Given the description of an element on the screen output the (x, y) to click on. 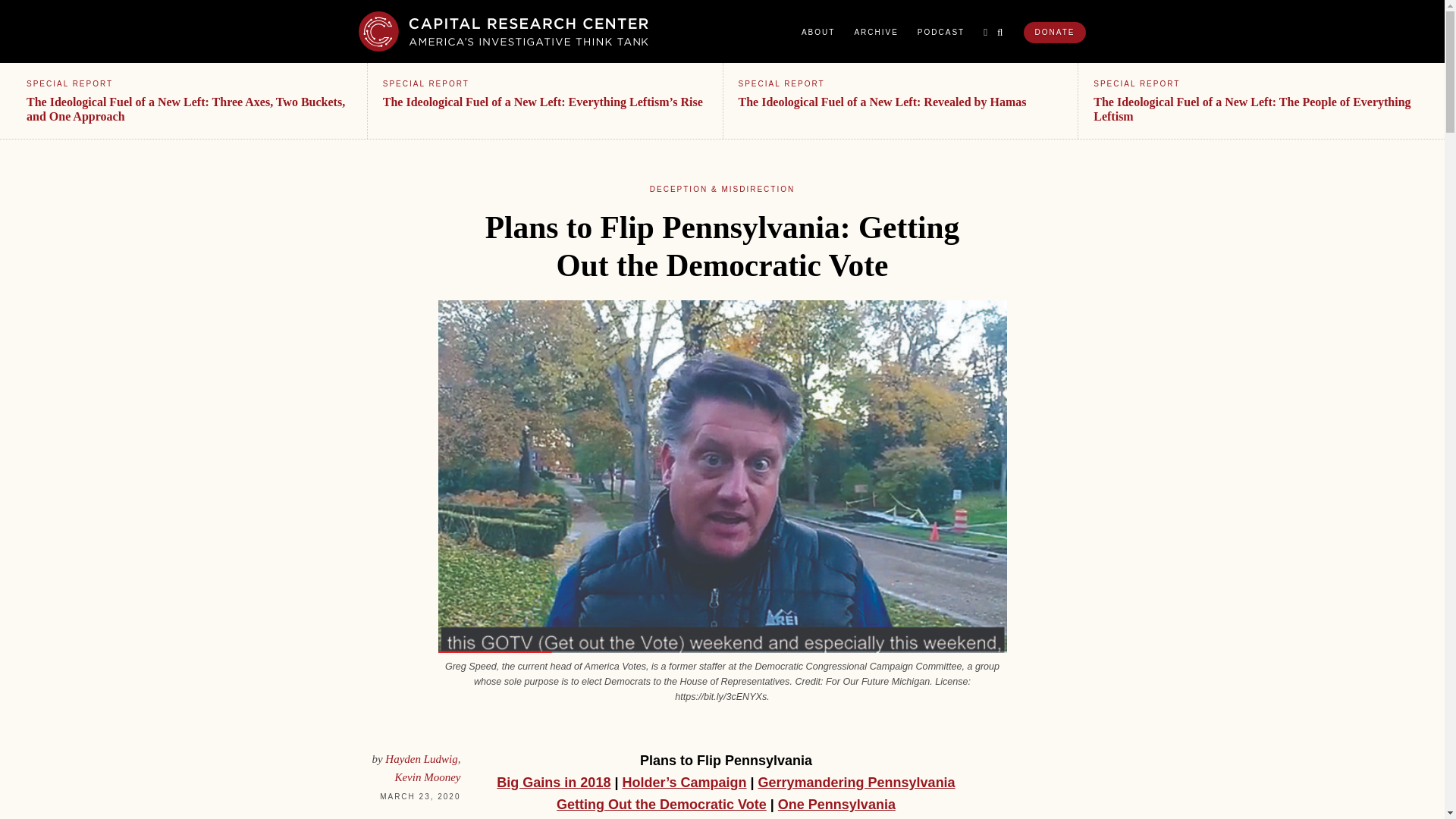
SPECIAL REPORT (425, 83)
SPECIAL REPORT (781, 83)
ABOUT (818, 32)
Getting Out the Democratic Vote (661, 804)
SPECIAL REPORT (69, 83)
PODCAST (940, 32)
Big Gains in 2018 (553, 782)
DONATE (1054, 32)
ARCHIVE (875, 32)
Menu (986, 32)
Kevin Mooney (427, 776)
One Pennsylvania (836, 804)
SPECIAL REPORT (1136, 83)
